Given the description of an element on the screen output the (x, y) to click on. 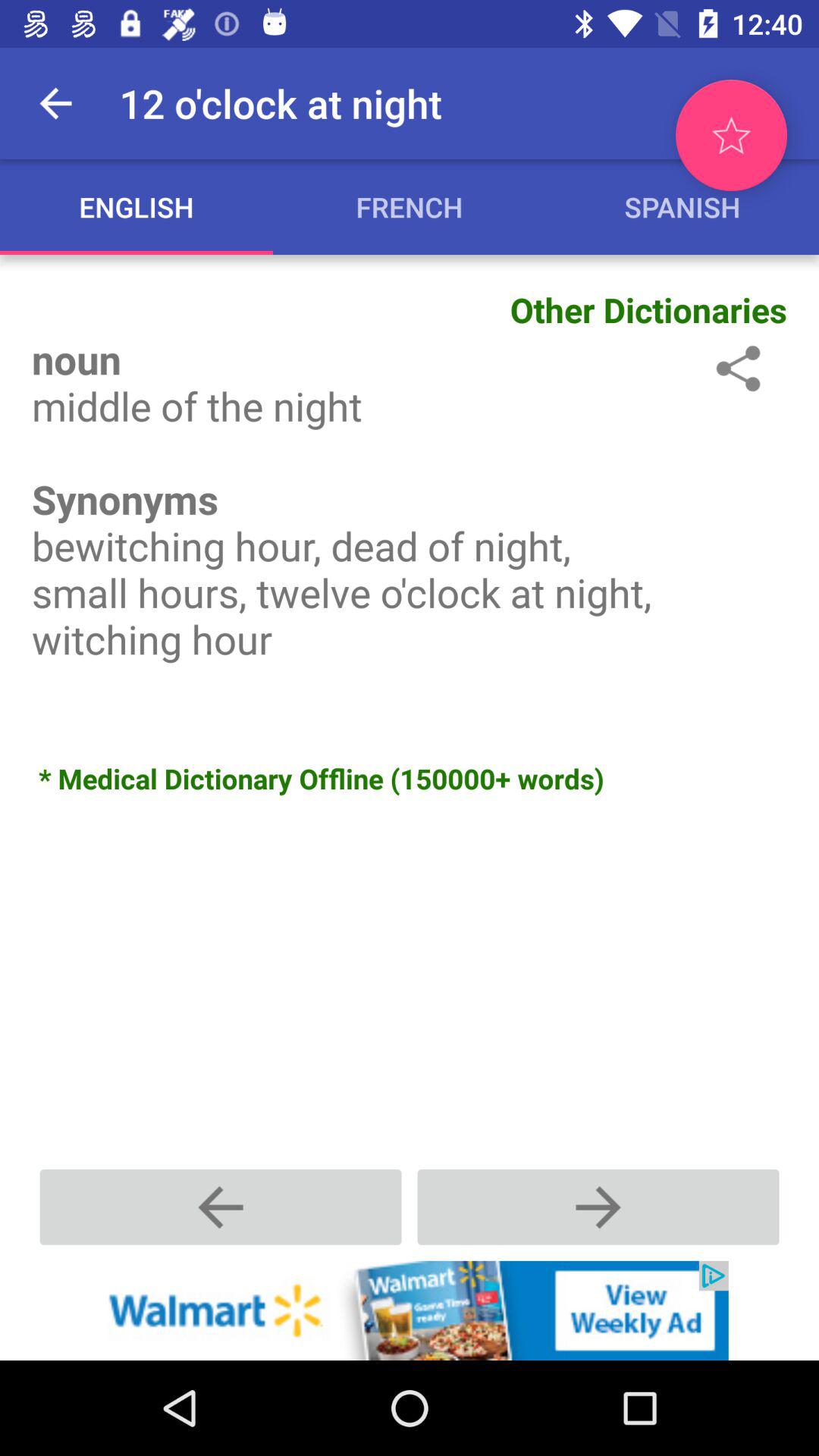
go to previous (598, 1206)
